Given the description of an element on the screen output the (x, y) to click on. 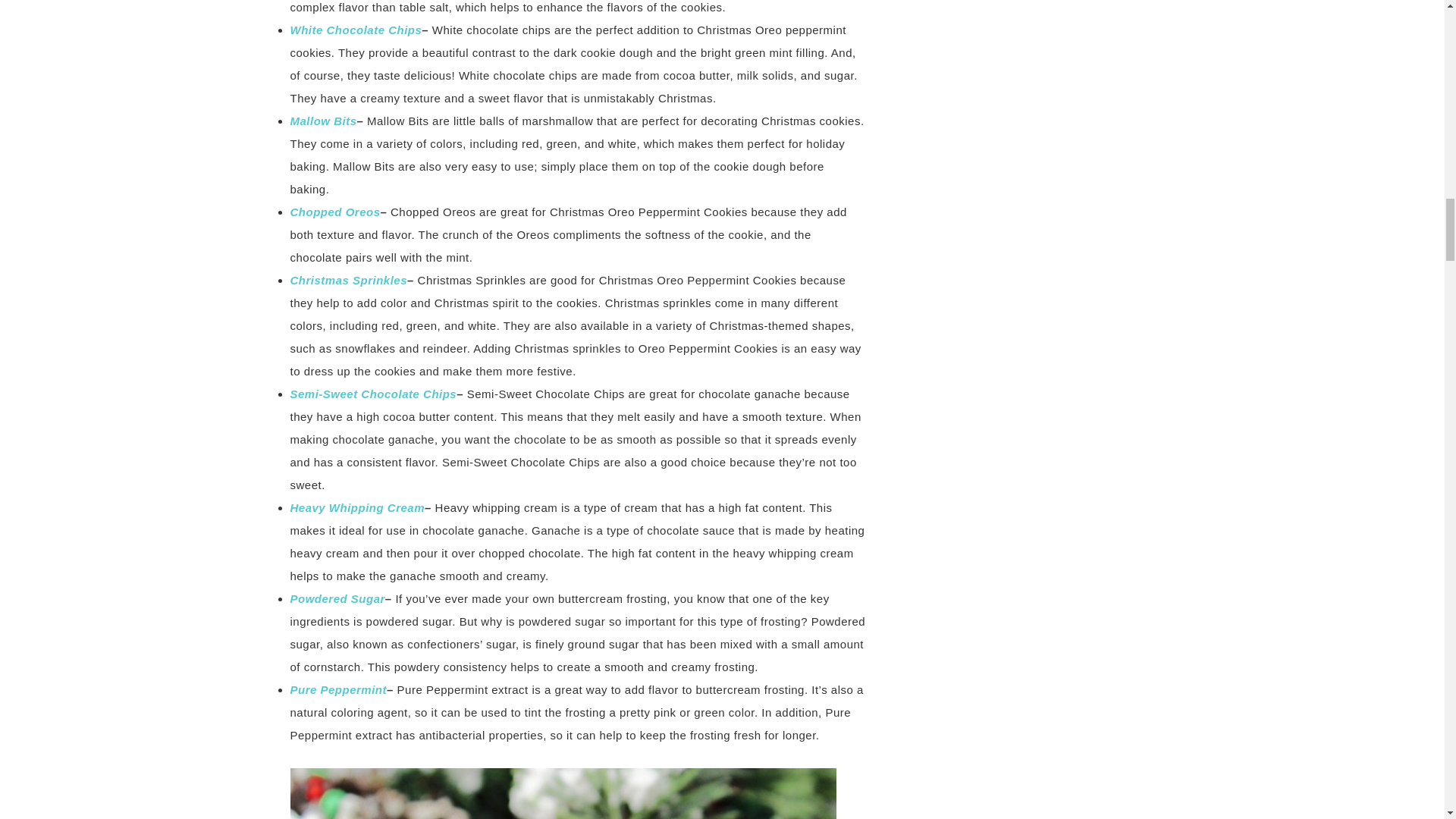
Christmas Sprinkles (348, 279)
Heavy Whipping Cream (357, 507)
Powdered Sugar (336, 598)
Chopped Oreos (334, 211)
Semi-Sweet Chocolate Chips (373, 393)
Pure Peppermint (338, 689)
White Chocolate Chips (355, 29)
Mallow Bits (322, 120)
